Given the description of an element on the screen output the (x, y) to click on. 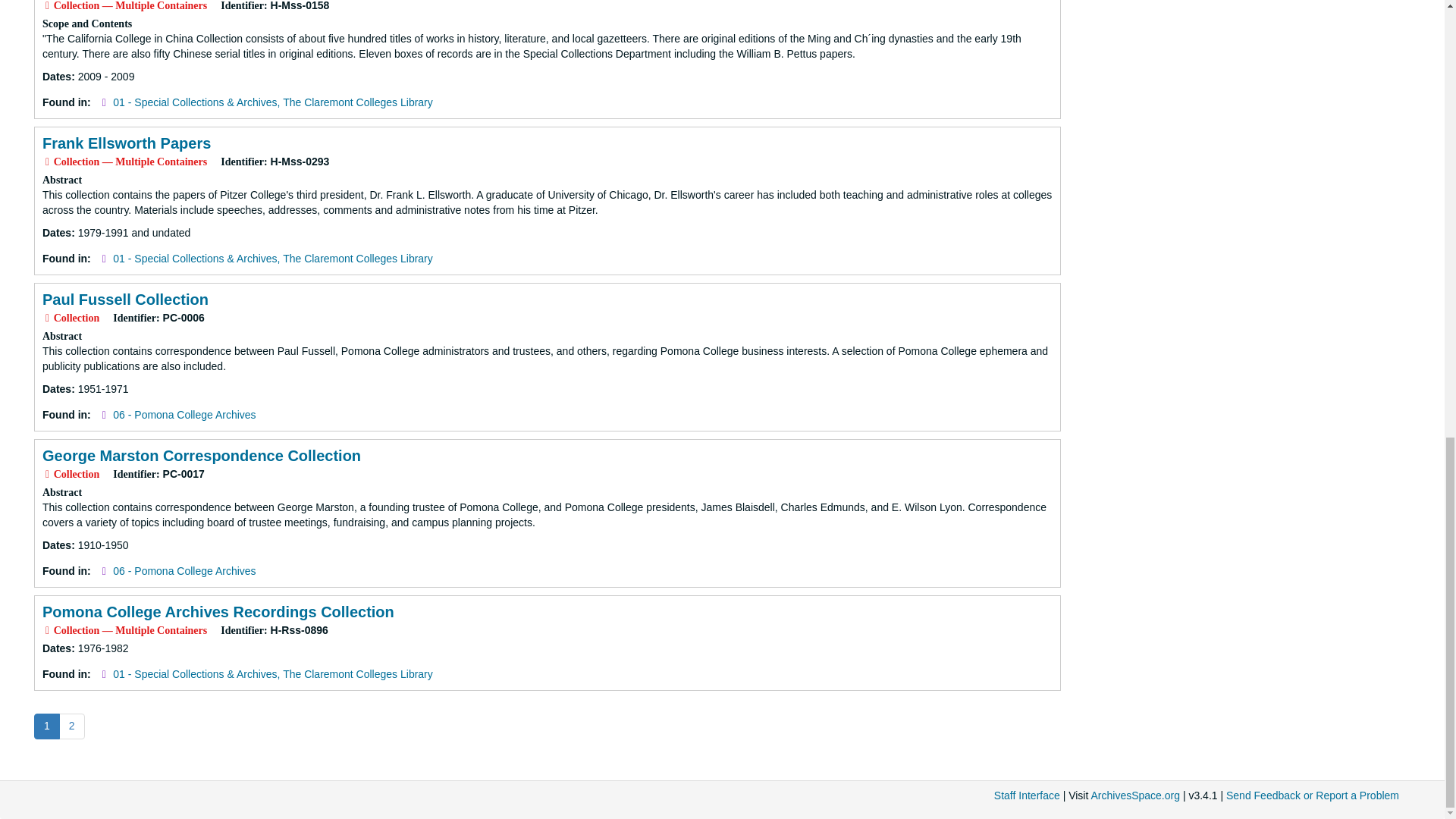
06 - Pomona College Archives (184, 571)
Pomona College Archives Recordings Collection (218, 611)
George Marston Correspondence Collection (201, 455)
Paul Fussell Collection (125, 299)
1 (46, 726)
2 (71, 726)
Frank Ellsworth Papers (126, 143)
06 - Pomona College Archives (184, 414)
